Given the description of an element on the screen output the (x, y) to click on. 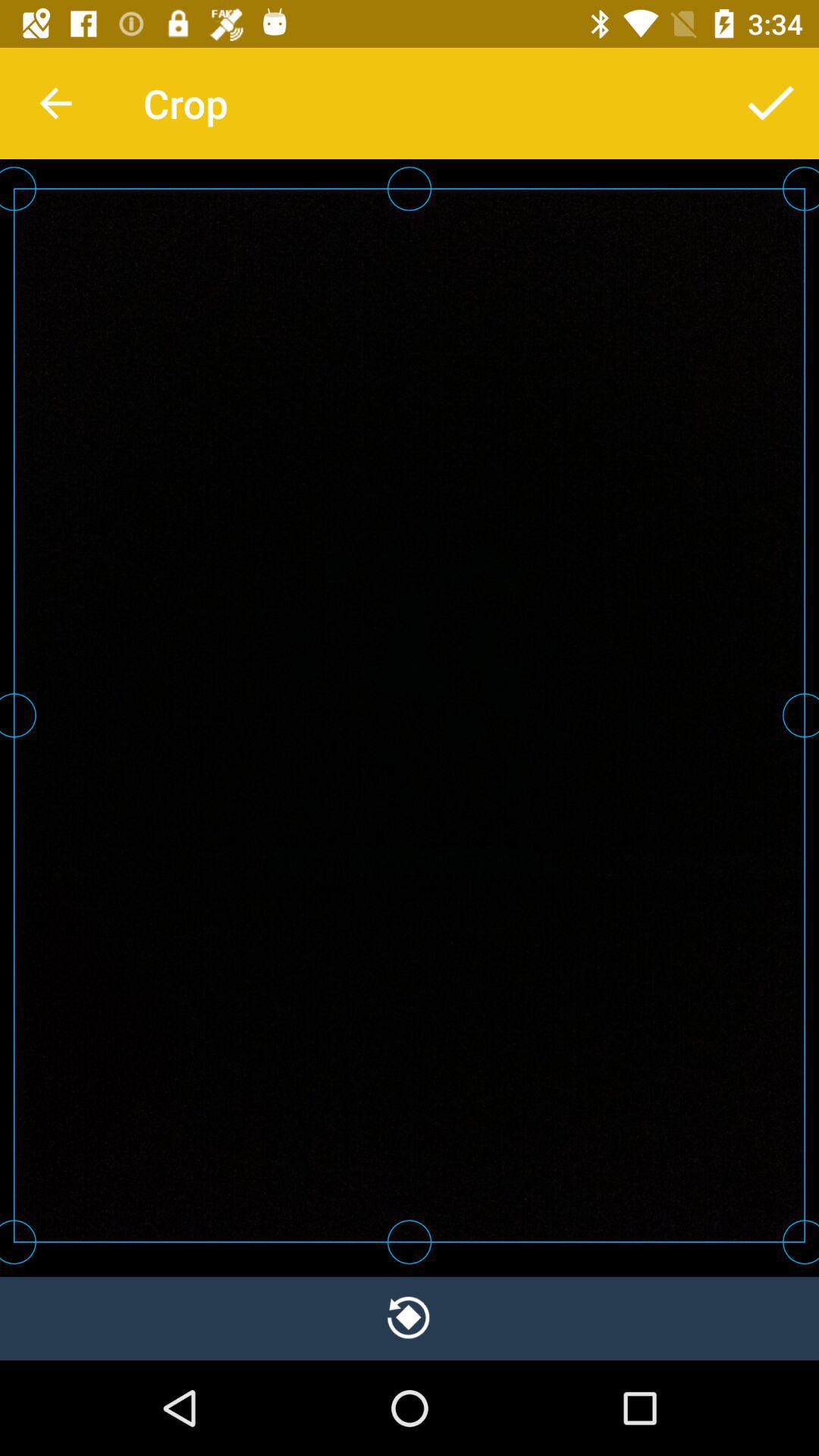
refresh screen button (409, 1318)
